Given the description of an element on the screen output the (x, y) to click on. 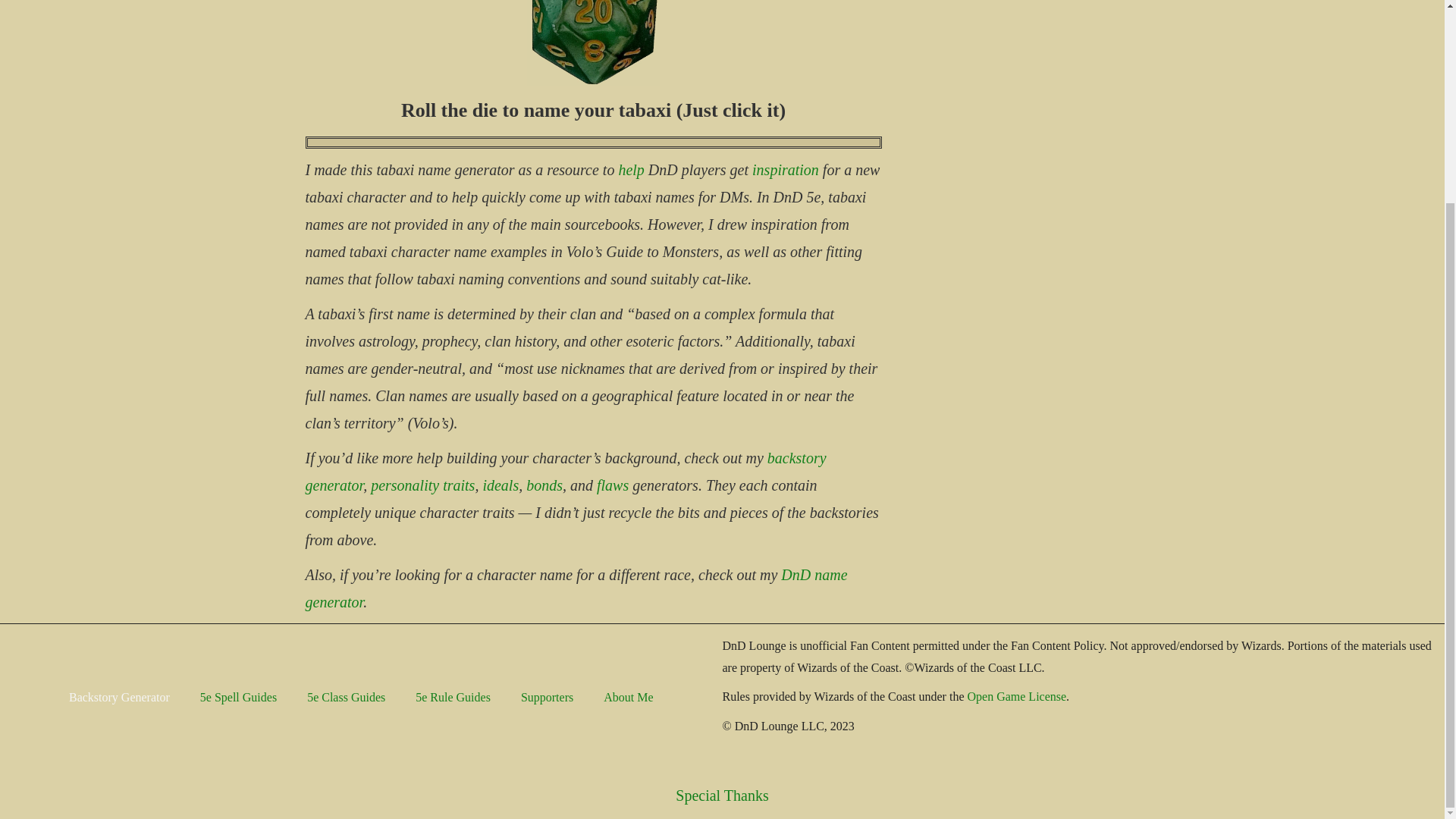
backstory generator (564, 471)
help (630, 169)
inspiration (785, 169)
